Given the description of an element on the screen output the (x, y) to click on. 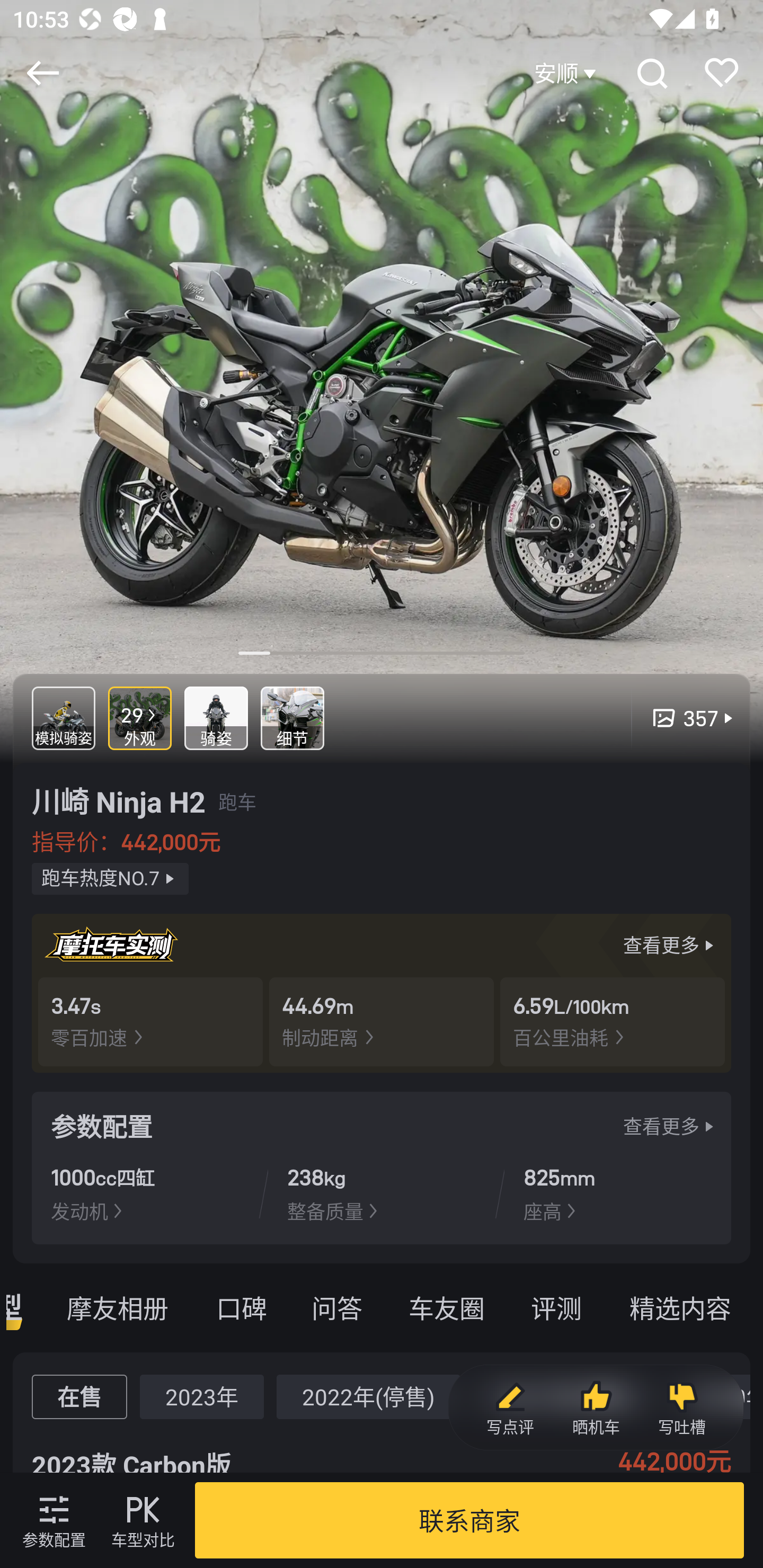
 (42, 72)
 (651, 72)
安顺 (567, 73)
模拟骑姿 (63, 717)
29  外观 (139, 717)
骑姿 (215, 717)
细节 (292, 717)
 357  (684, 717)
跑车热度NO.7  (110, 878)
3.47s 零百加速  (150, 1021)
44.69m 制动距离  (381, 1021)
6.59L/100km 百公里油耗  (612, 1021)
查看更多 (670, 1126)
1000cc四缸 发动机  (144, 1192)
238kg 整备质量  (380, 1192)
825mm 座高  (617, 1192)
摩友相册 (117, 1307)
口碑 (241, 1307)
问答 (336, 1307)
车友圈 (446, 1307)
评测 (556, 1307)
精选内容 (683, 1307)
在售 (79, 1397)
2023年 (201, 1397)
2022年(停售) (368, 1397)
写点评 (510, 1407)
晒机车 (595, 1407)
写吐槽 (681, 1407)
2023款 Carbon版 442,000元 (381, 1450)
参数配置 (53, 1520)
车型对比 (142, 1520)
联系商家 (469, 1519)
